Given the description of an element on the screen output the (x, y) to click on. 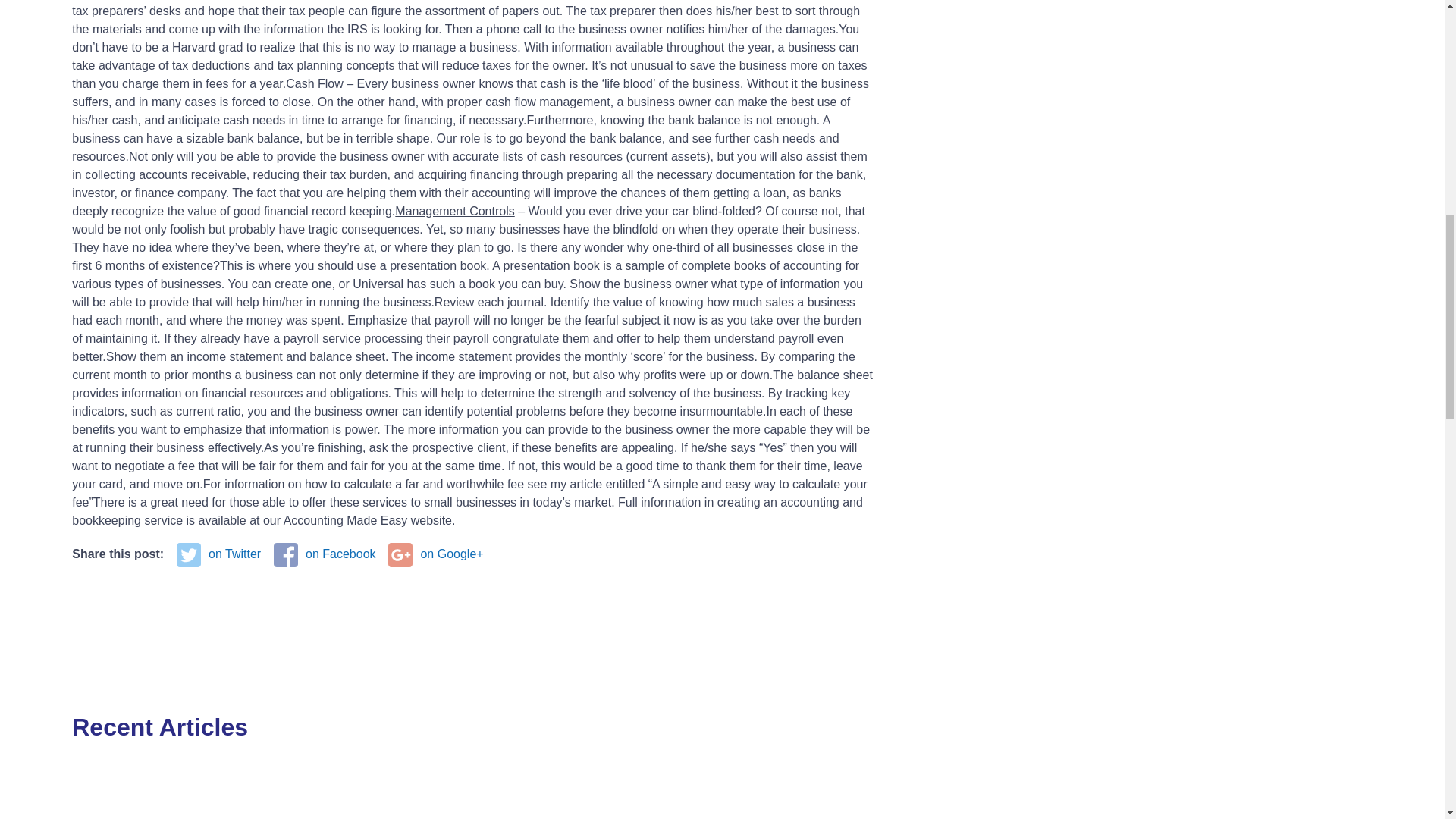
on Twitter (219, 554)
on Facebook (324, 554)
